Given the description of an element on the screen output the (x, y) to click on. 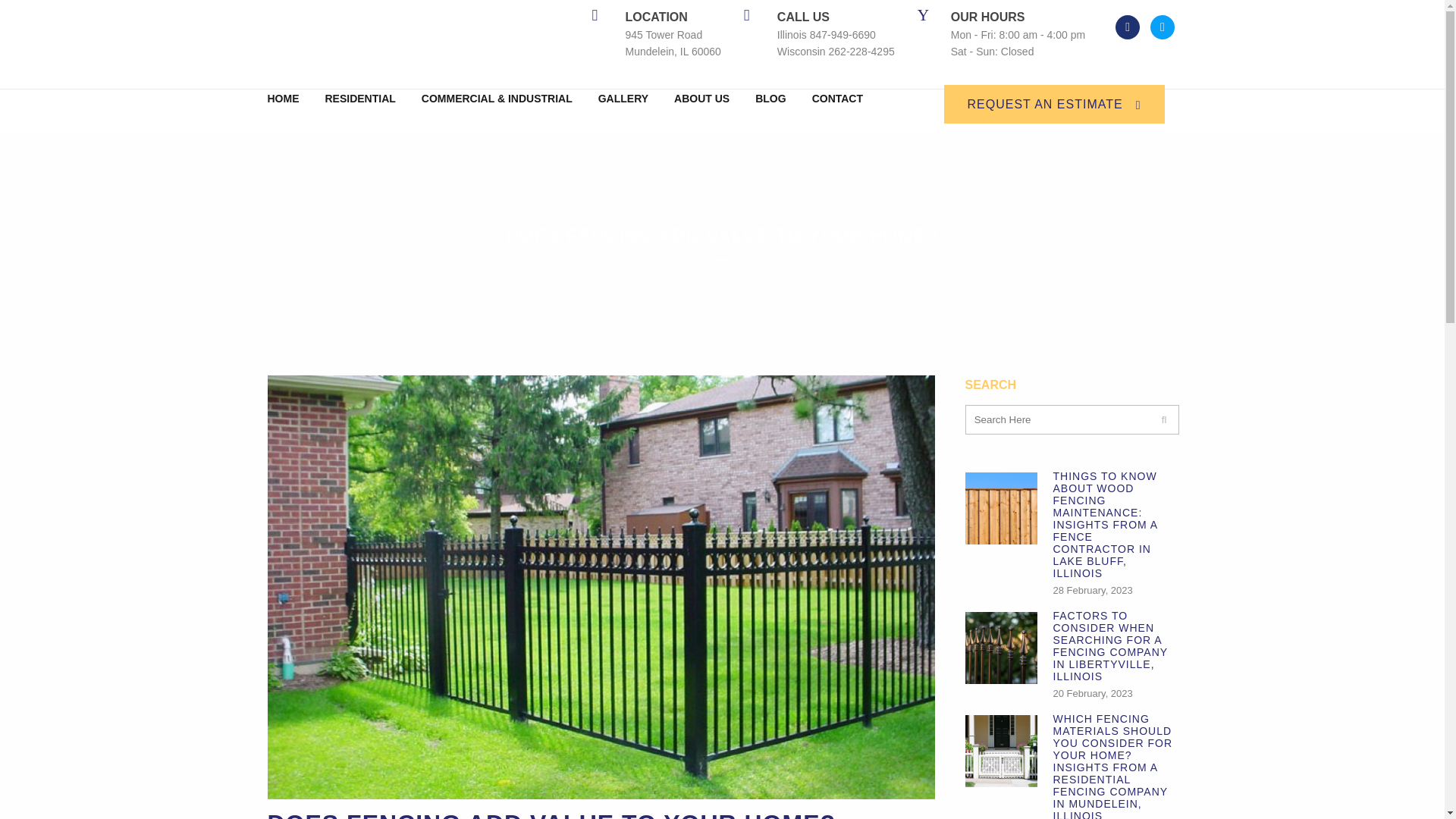
REQUEST AN ESTIMATE (1053, 104)
CONTACT (837, 98)
BLOG (769, 98)
ABOUT US (701, 98)
HOME (288, 98)
GALLERY (623, 98)
RESIDENTIAL (361, 98)
